Given the description of an element on the screen output the (x, y) to click on. 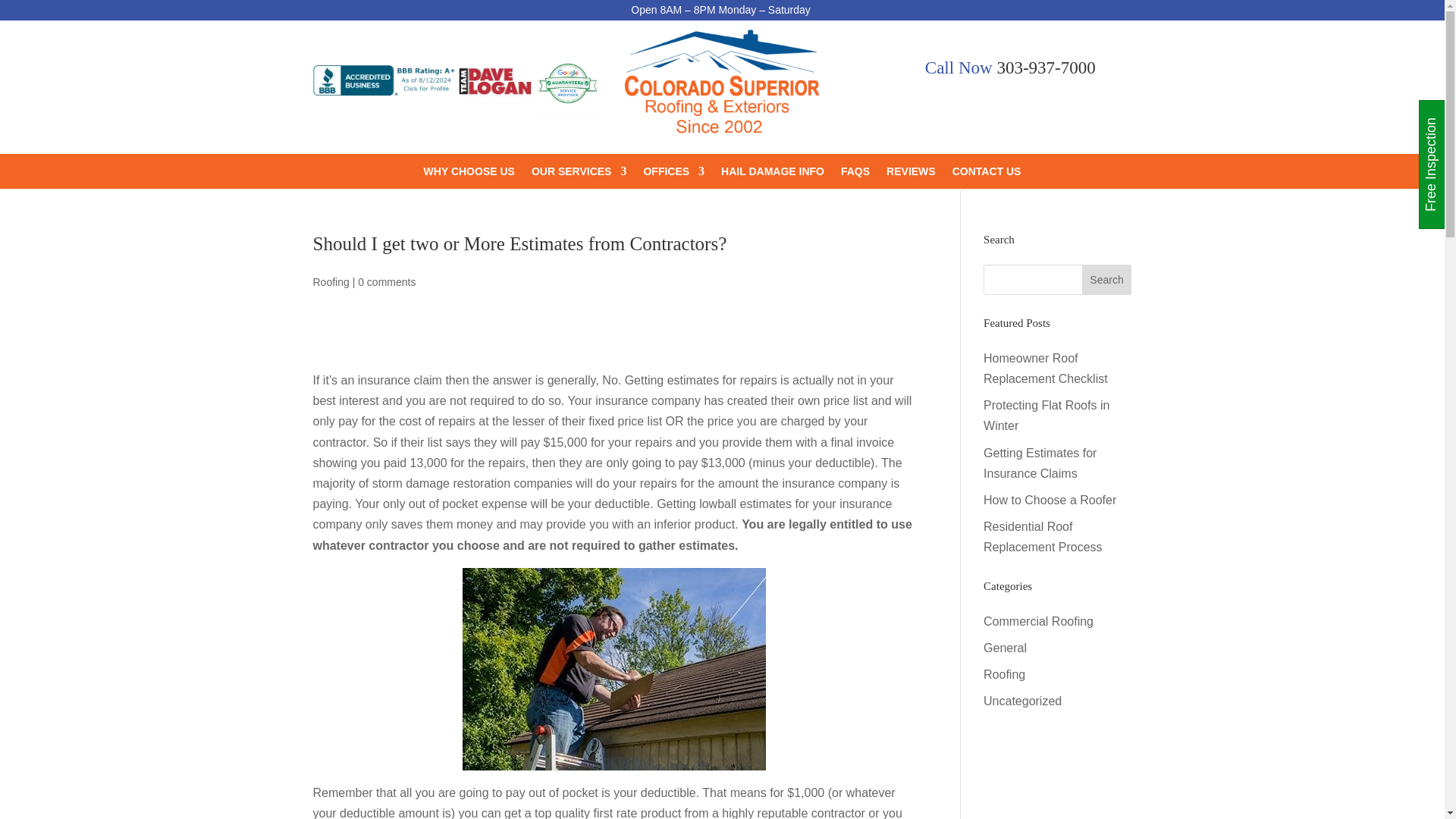
Protecting Flat Roofs in Winter (1046, 415)
Uncategorized (1022, 700)
CONTACT US (987, 174)
FAQS (855, 174)
Roofing (331, 282)
Commercial Roofing (1038, 621)
Search (1106, 279)
CSR-Exteriors-Orange-Text-and-Blue-optimized (721, 86)
303-937-7000 (1044, 67)
REVIEWS (911, 174)
